Given the description of an element on the screen output the (x, y) to click on. 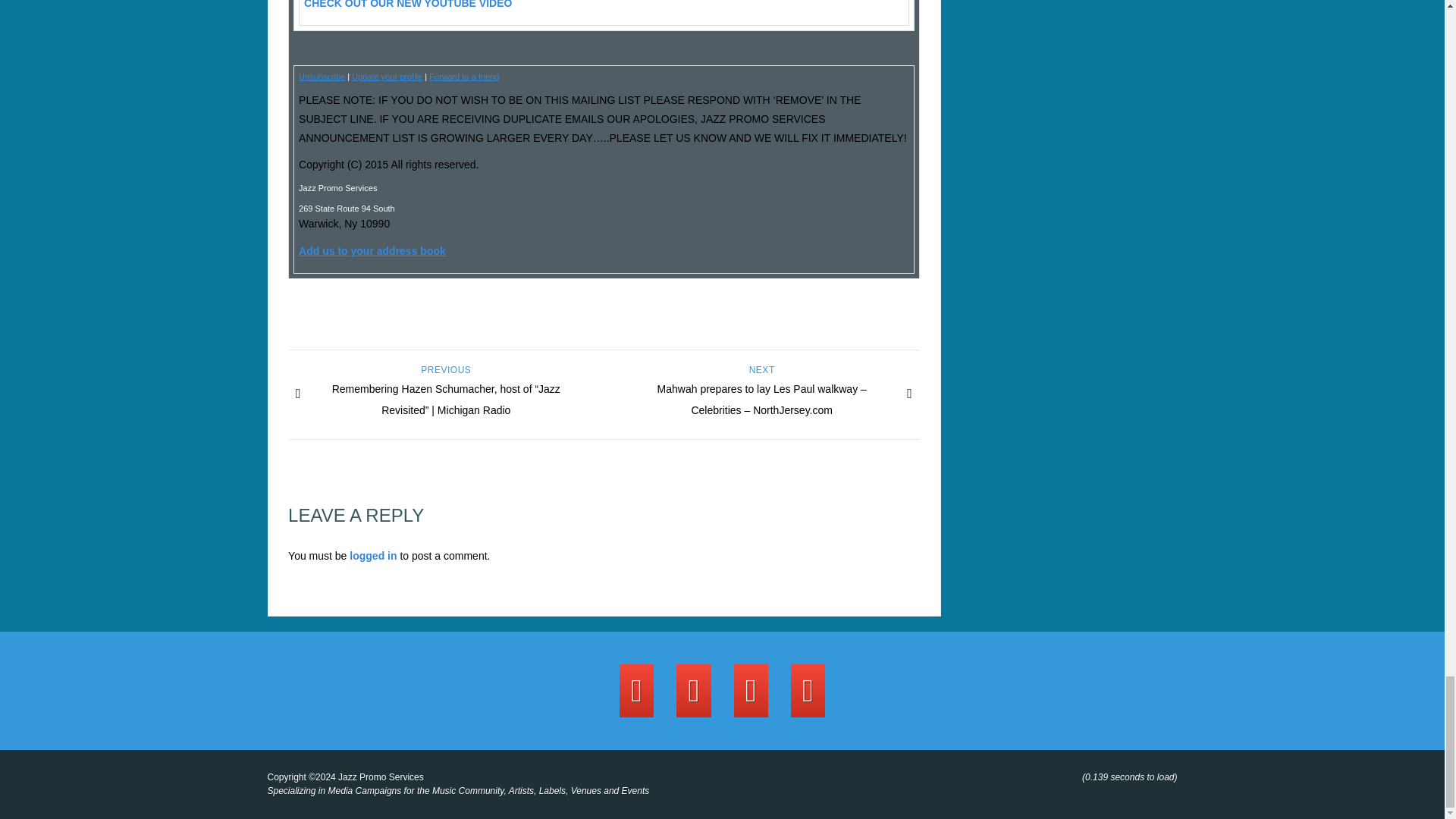
Forward to a friend (464, 76)
logged in (372, 555)
CHECK OUT OUR NEW YOUTUBE VIDEO (408, 4)
Add us to your address book (371, 250)
Unsubscribe (321, 76)
Update your profile (387, 76)
